Given the description of an element on the screen output the (x, y) to click on. 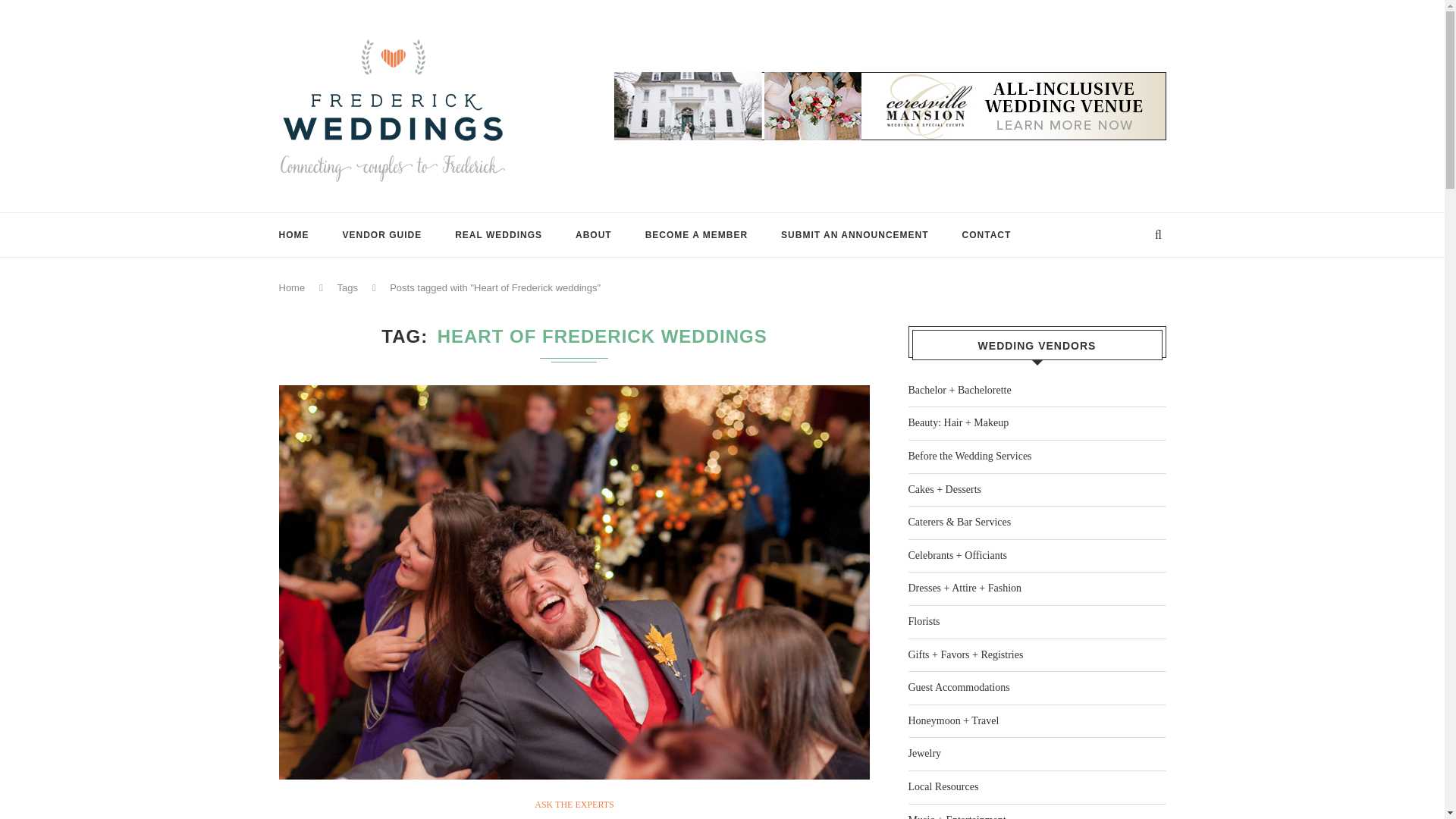
Before the Wedding Services (970, 455)
REAL WEDDINGS (497, 234)
Home (292, 287)
CONTACT (986, 234)
View all posts in Ask the Experts (573, 804)
ASK THE EXPERTS (573, 804)
VENDOR GUIDE (382, 234)
SUBMIT AN ANNOUNCEMENT (854, 234)
BECOME A MEMBER (696, 234)
